Given the description of an element on the screen output the (x, y) to click on. 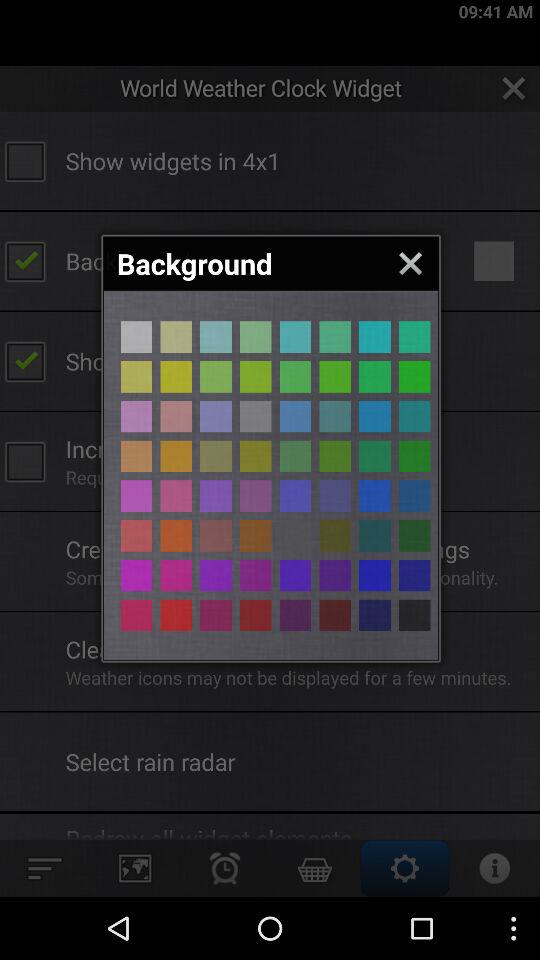
different colour page (215, 416)
